Given the description of an element on the screen output the (x, y) to click on. 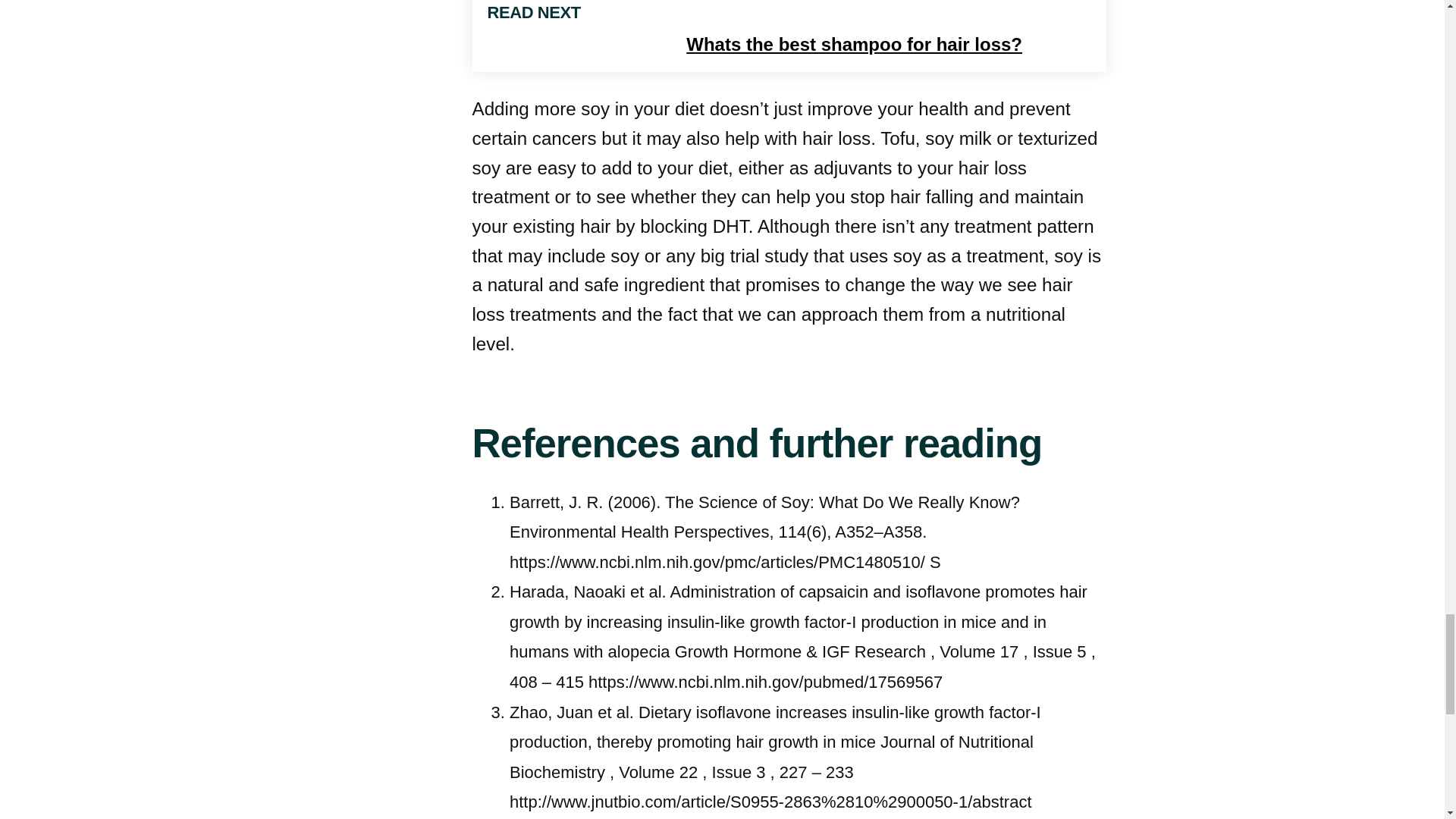
Whats the best shampoo for hair loss? (987, 46)
